Given the description of an element on the screen output the (x, y) to click on. 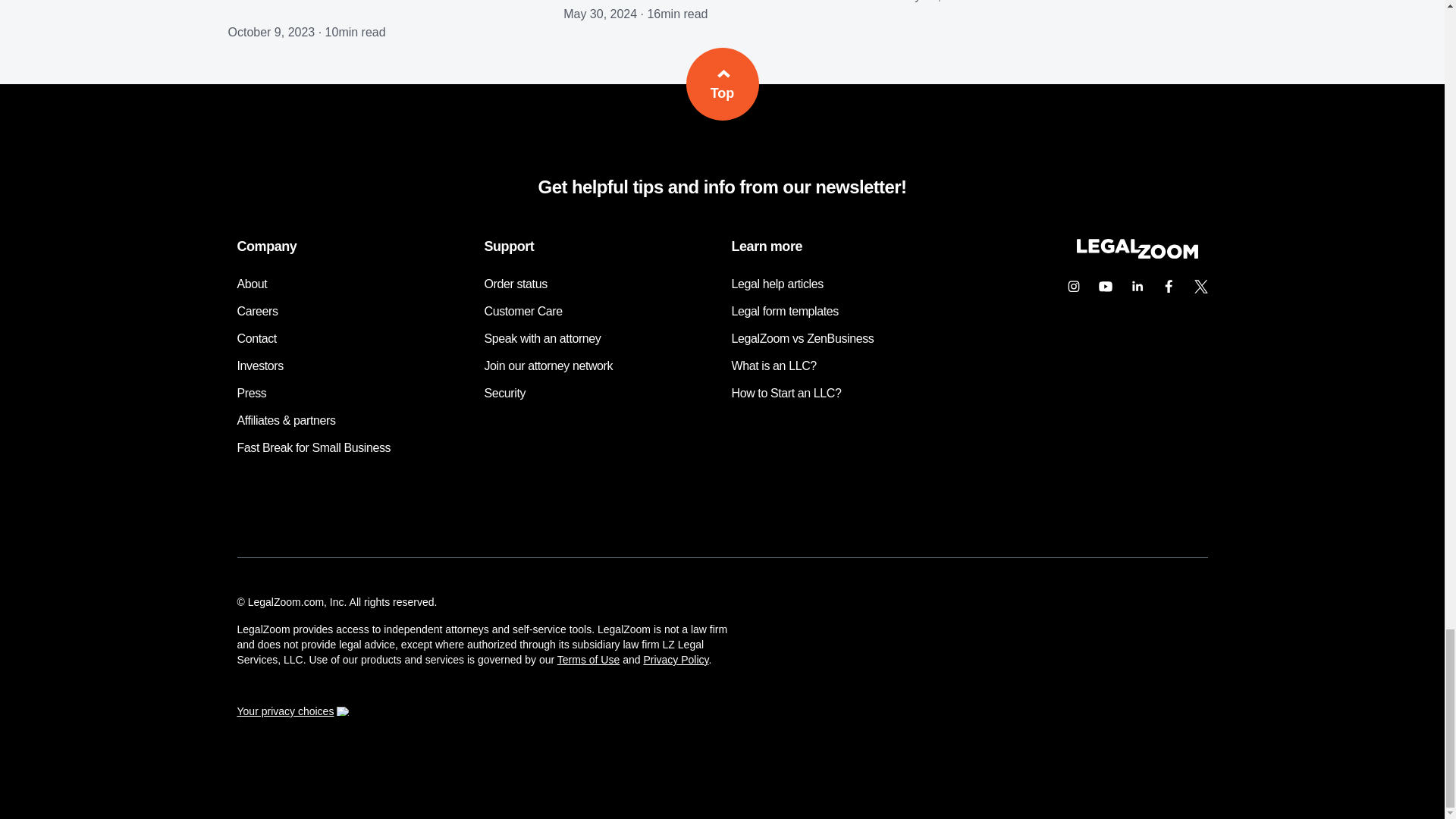
Twitter (1200, 286)
YouTube (1105, 286)
Top (721, 83)
About (250, 283)
Investors (258, 365)
Instagram (1073, 286)
Contact (255, 338)
Back to top (721, 83)
Facebook (1169, 286)
LegalZoom (1136, 255)
Careers (256, 310)
Press (250, 392)
LinkedIn (1137, 286)
